Given the description of an element on the screen output the (x, y) to click on. 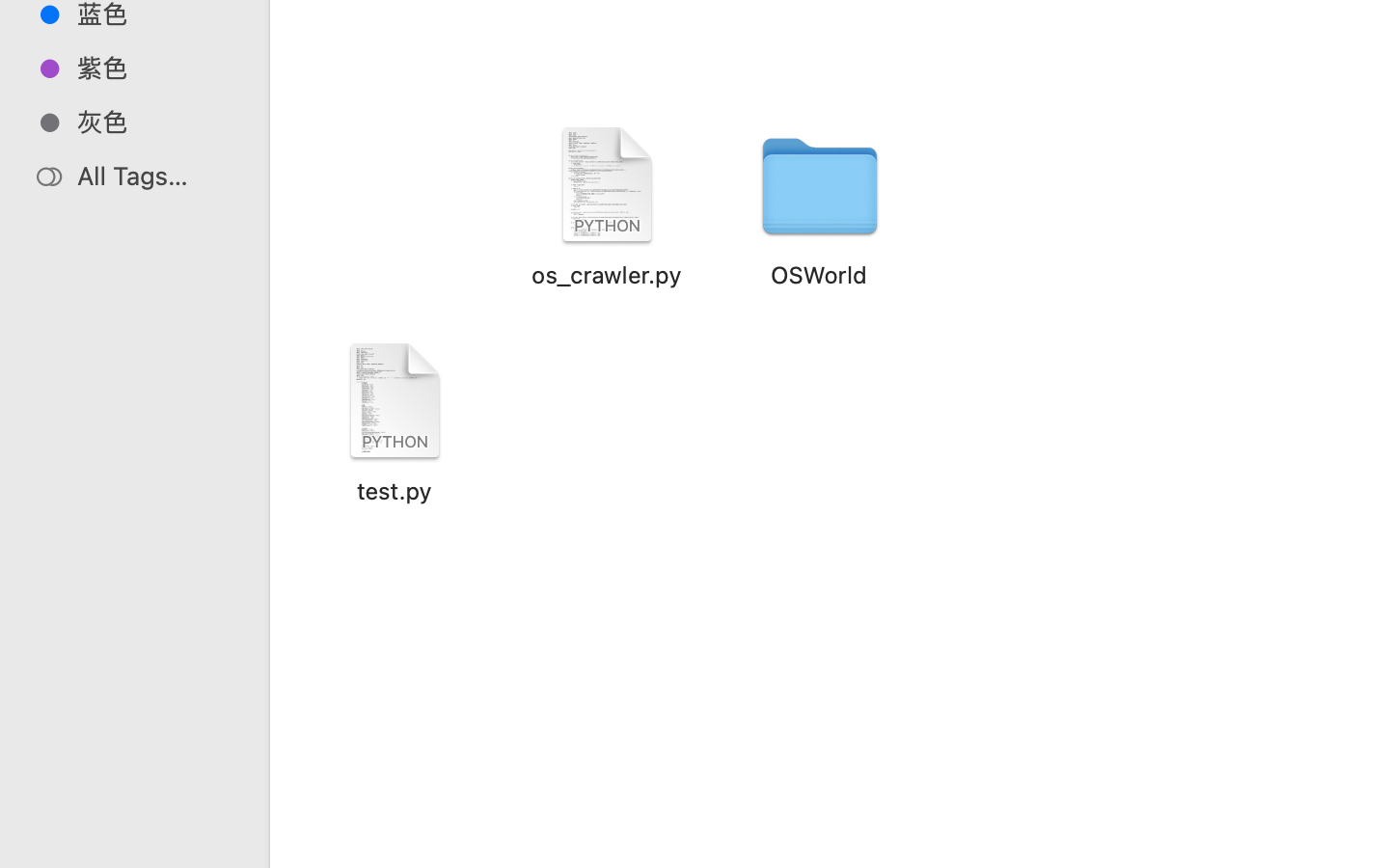
灰色 Element type: AXStaticText (155, 121)
